Given the description of an element on the screen output the (x, y) to click on. 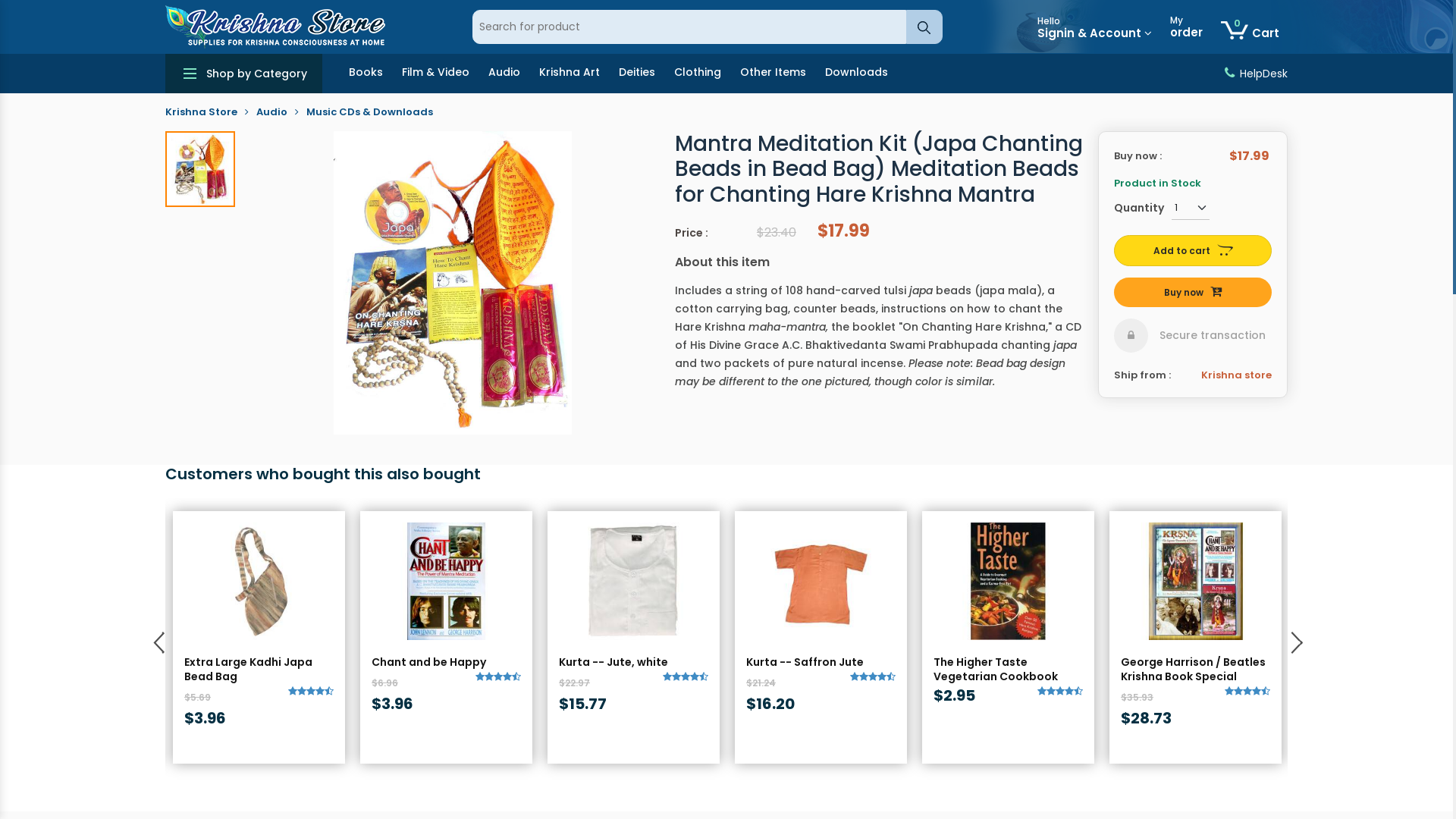
Extra Large Kadhi Japa Bead Bag Element type: hover (258, 580)
The Higher Taste Vegetarian Cookbook Element type: text (1007, 669)
4.39 out of 5 Element type: hover (872, 676)
 Mantra Meditation Kit (Japa Chanting Beads in Bead Bag)  Element type: hover (200, 168)
Krishna Store Element type: text (201, 111)
Kurta -- Jute, white Element type: text (633, 662)
4.88 out of 5 Element type: hover (1247, 691)
Previous Element type: text (157, 638)
4.33 out of 5 Element type: hover (310, 691)
Add to cart Element type: text (1192, 250)
Film & Video Element type: text (435, 73)
Kurta -- Saffron Jute Element type: text (820, 662)
0
Cart Element type: text (1249, 26)
Audio Element type: text (504, 73)
4.93 out of 5 Element type: hover (1059, 691)
HelpDesk Element type: text (1263, 73)
Kurta -- Saffron Jute Element type: hover (820, 580)
George Harrison / Beatles Krishna Book Special Element type: hover (1195, 580)
Deities Element type: text (636, 73)
Books Element type: text (365, 73)
Extra Large Kadhi Japa Bead Bag Element type: text (258, 669)
Buy now Element type: text (1192, 292)
Audio Element type: text (271, 111)
Krishna Art Element type: text (569, 73)
Chant and be Happy Element type: hover (446, 580)
Chant and be Happy Element type: text (445, 662)
4.41 out of 5 Element type: hover (685, 676)
Hello
Signin & Account Element type: text (1094, 26)
Shop by Category Element type: text (243, 73)
The Higher Taste Vegetarian Cookbook Element type: hover (1008, 580)
Clothing Element type: text (697, 73)
Next Element type: text (1294, 638)
George Harrison / Beatles Krishna Book Special Element type: text (1195, 669)
My
order Element type: text (1186, 26)
Downloads Element type: text (856, 73)
 Mantra Meditation Kit (Japa Chanting Beads in Bead Bag)  Element type: hover (452, 281)
Music CDs & Downloads Element type: text (369, 111)
4.67 out of 5 Element type: hover (497, 676)
 Australian Krishna Store  Element type: hover (275, 26)
Kurta -- Jute, white Element type: hover (633, 580)
Other Items Element type: text (773, 73)
